Given the description of an element on the screen output the (x, y) to click on. 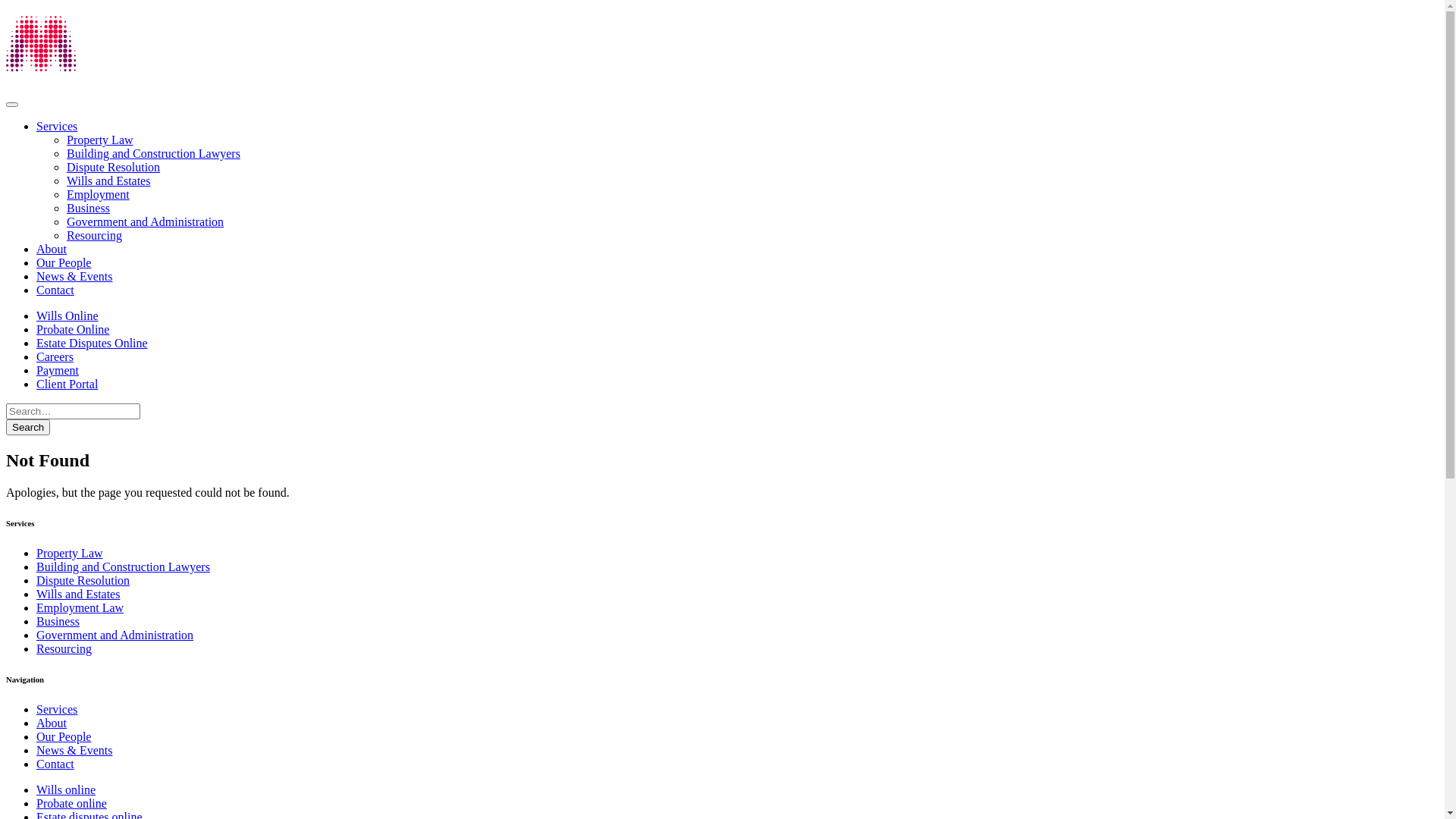
Wills and Estates Element type: text (108, 180)
Client Portal Element type: text (66, 383)
About Element type: text (51, 722)
Our People Element type: text (63, 736)
Careers Element type: text (54, 356)
Employment Element type: text (97, 194)
Contact Element type: text (55, 289)
Our People Element type: text (63, 262)
Wills Online Element type: text (67, 315)
Building and Construction Lawyers Element type: text (123, 566)
Resourcing Element type: text (94, 235)
News & Events Element type: text (74, 275)
Business Element type: text (57, 621)
Dispute Resolution Element type: text (113, 166)
Business Element type: text (87, 207)
Government and Administration Element type: text (114, 634)
Wills and Estates Element type: text (77, 593)
Payment Element type: text (57, 370)
News & Events Element type: text (74, 749)
Services Element type: text (56, 125)
Employment Law Element type: text (79, 607)
Wills online Element type: text (65, 789)
Probate Online Element type: text (72, 329)
Government and Administration Element type: text (144, 221)
Building and Construction Lawyers Element type: text (153, 153)
MV Law Element type: hover (93, 63)
Property Law Element type: text (99, 139)
Dispute Resolution Element type: text (82, 580)
About Element type: text (51, 248)
Resourcing Element type: text (63, 648)
Estate Disputes Online Element type: text (91, 342)
Contact Element type: text (55, 763)
Property Law Element type: text (69, 552)
Search Element type: text (28, 427)
Probate online Element type: text (71, 803)
Services Element type: text (56, 708)
